Given the description of an element on the screen output the (x, y) to click on. 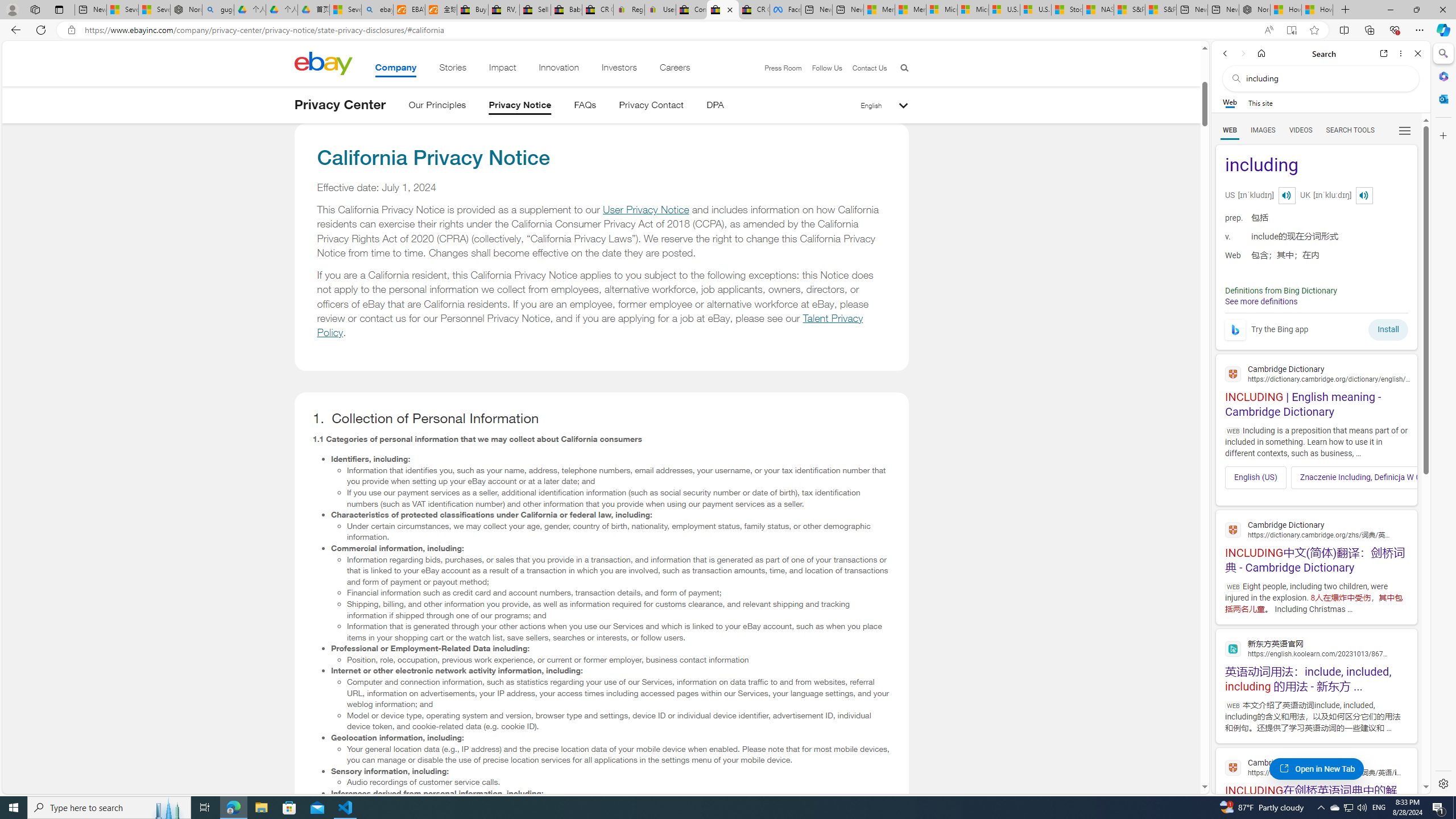
Buy Auto Parts & Accessories | eBay (472, 9)
English (US) (1255, 477)
Customize (1442, 135)
Class: dict_pnIcon rms_img (1363, 194)
This site scope (1259, 102)
